Given the description of an element on the screen output the (x, y) to click on. 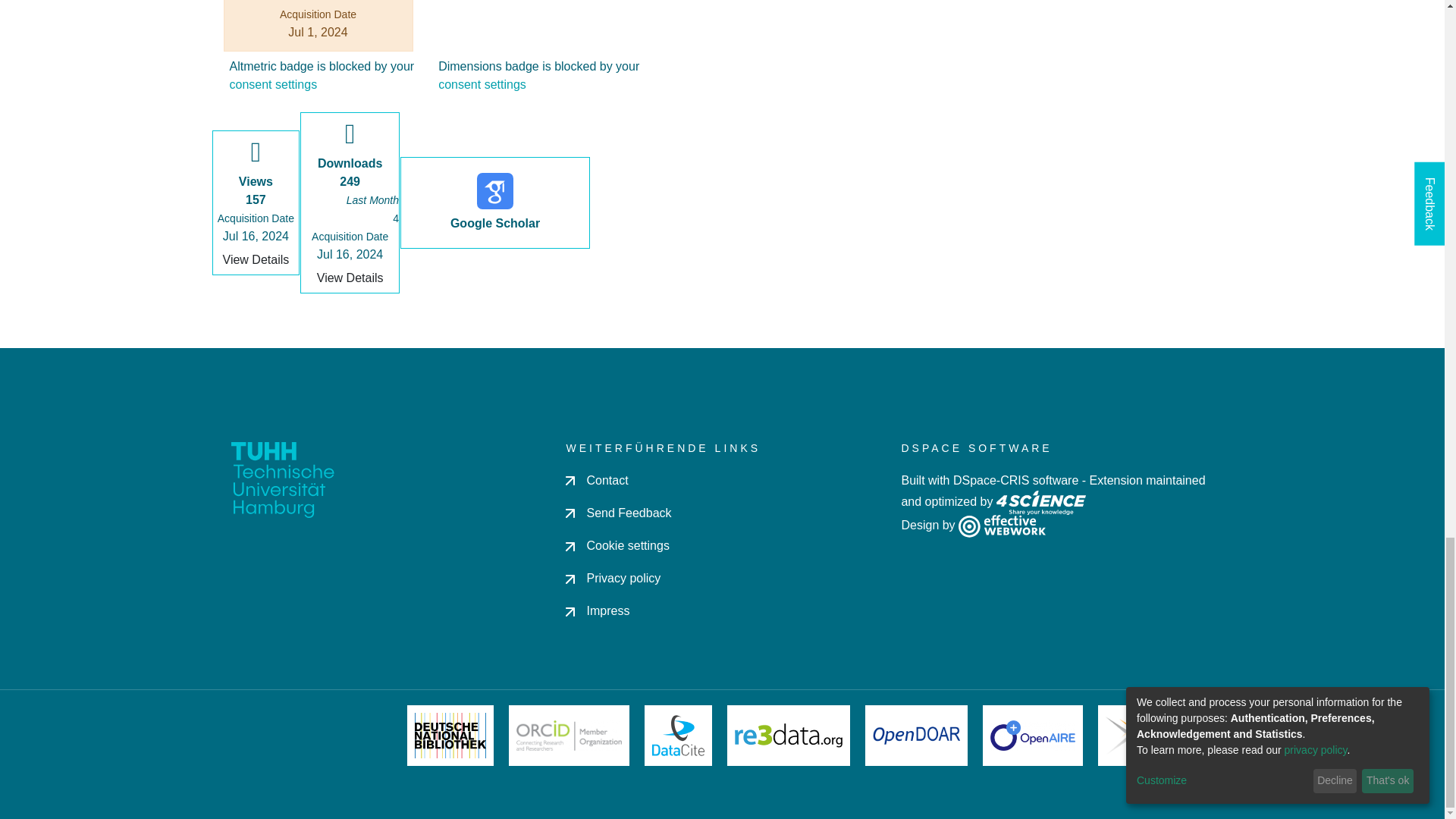
effective webwork GmbH Hamburg (1001, 524)
